Given the description of an element on the screen output the (x, y) to click on. 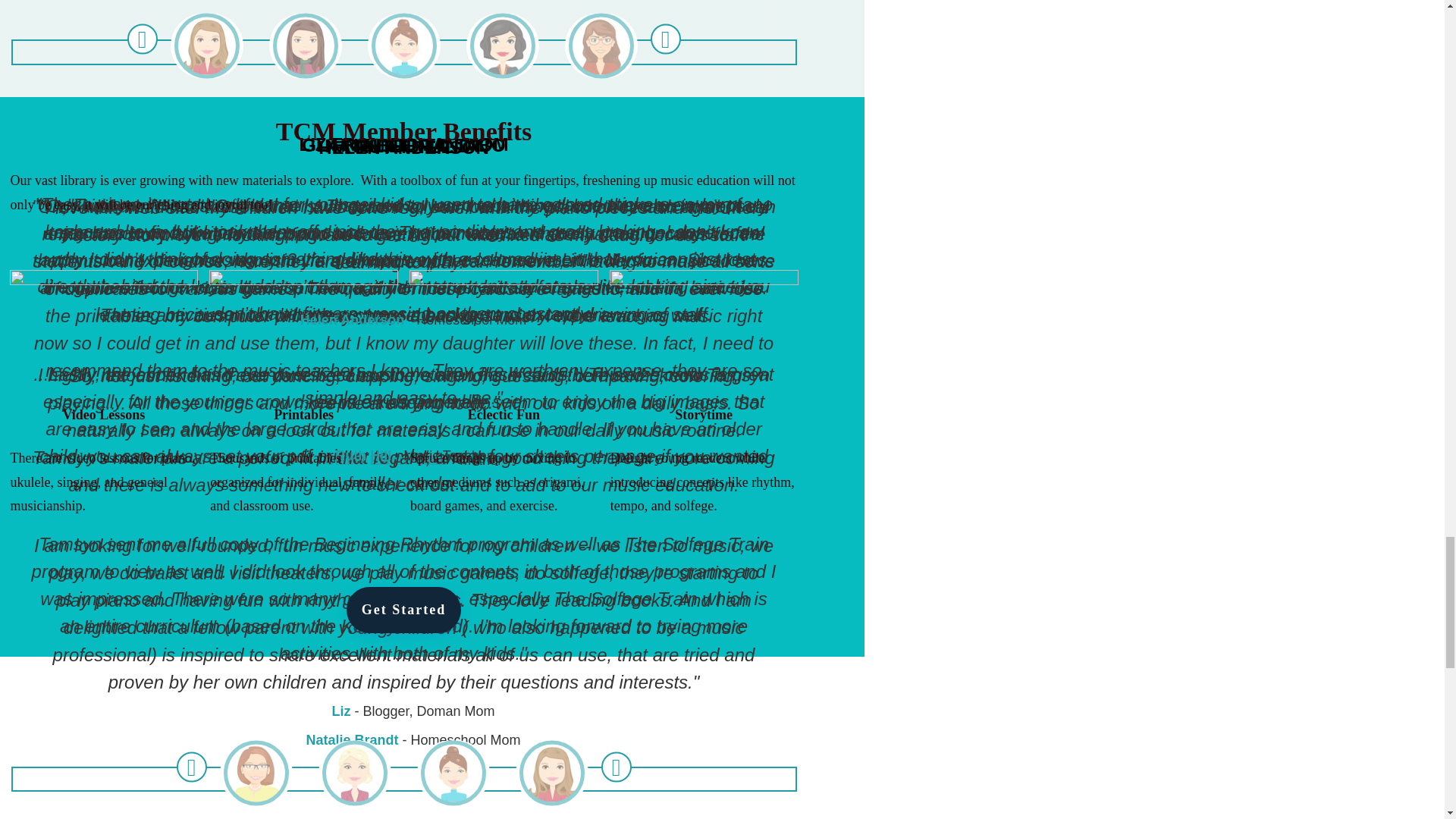
andante (703, 328)
boomwhackers (503, 328)
Blogger, Doman Mom (428, 711)
Get Started (403, 610)
solfege-train (303, 328)
ukulele (103, 328)
